Given the description of an element on the screen output the (x, y) to click on. 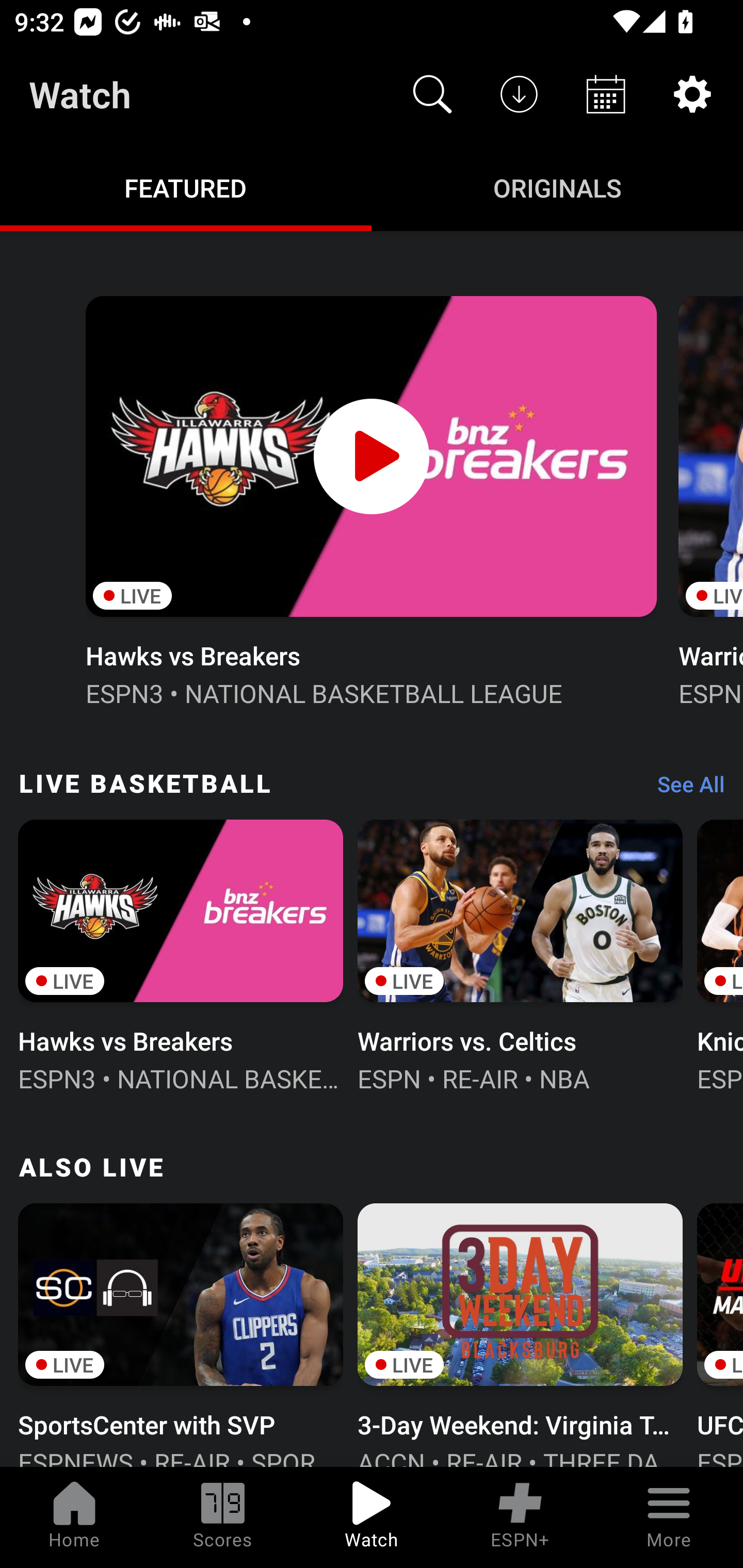
Search (432, 93)
Downloads (518, 93)
Schedule (605, 93)
Settings (692, 93)
Originals ORIGINALS (557, 187)
See All (683, 788)
LIVE Warriors vs. Celtics ESPN • RE-AIR • NBA (519, 954)
Home (74, 1517)
Scores (222, 1517)
ESPN+ (519, 1517)
More (668, 1517)
